Given the description of an element on the screen output the (x, y) to click on. 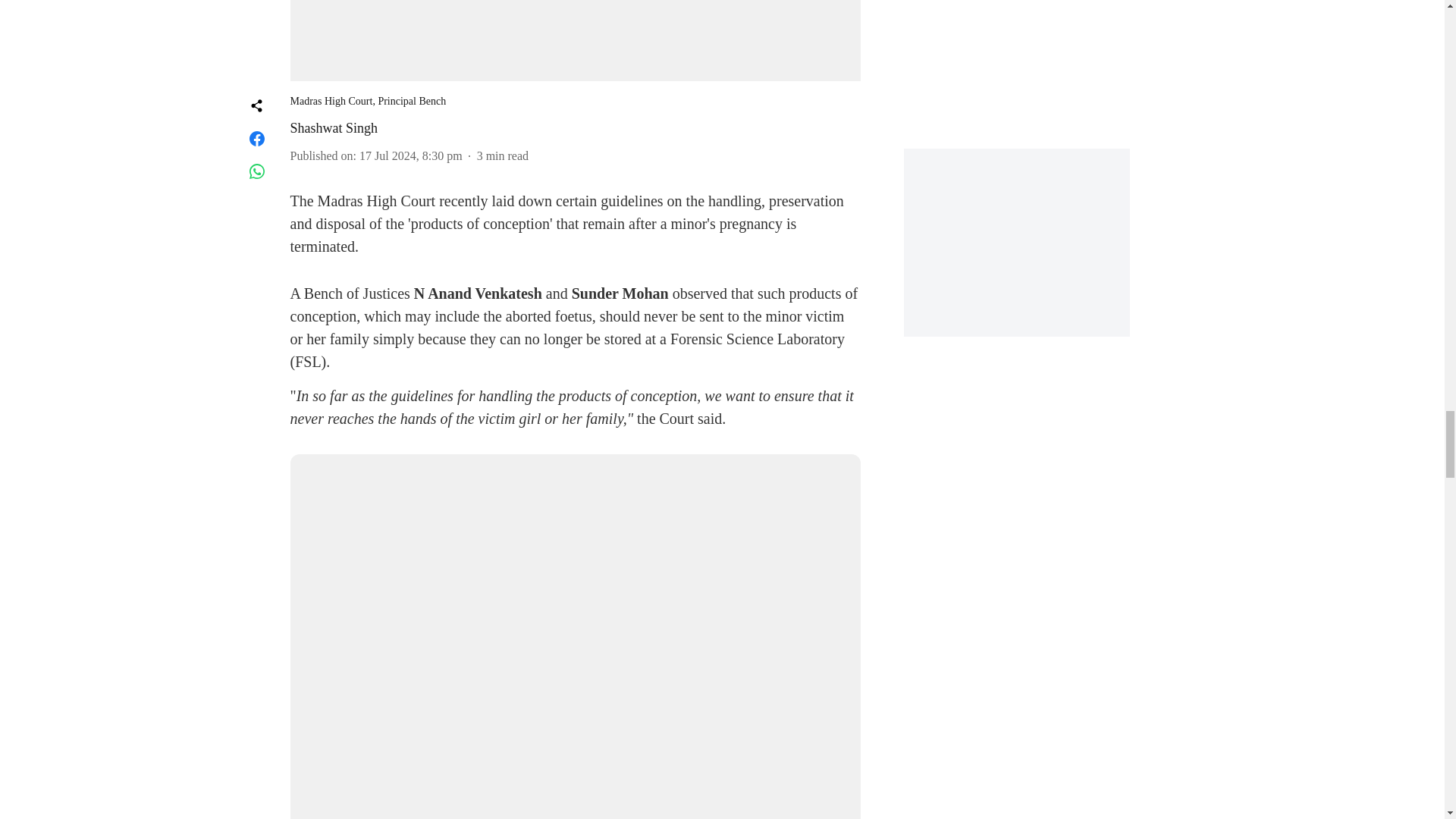
2024-07-17 12:30 (411, 155)
